Given the description of an element on the screen output the (x, y) to click on. 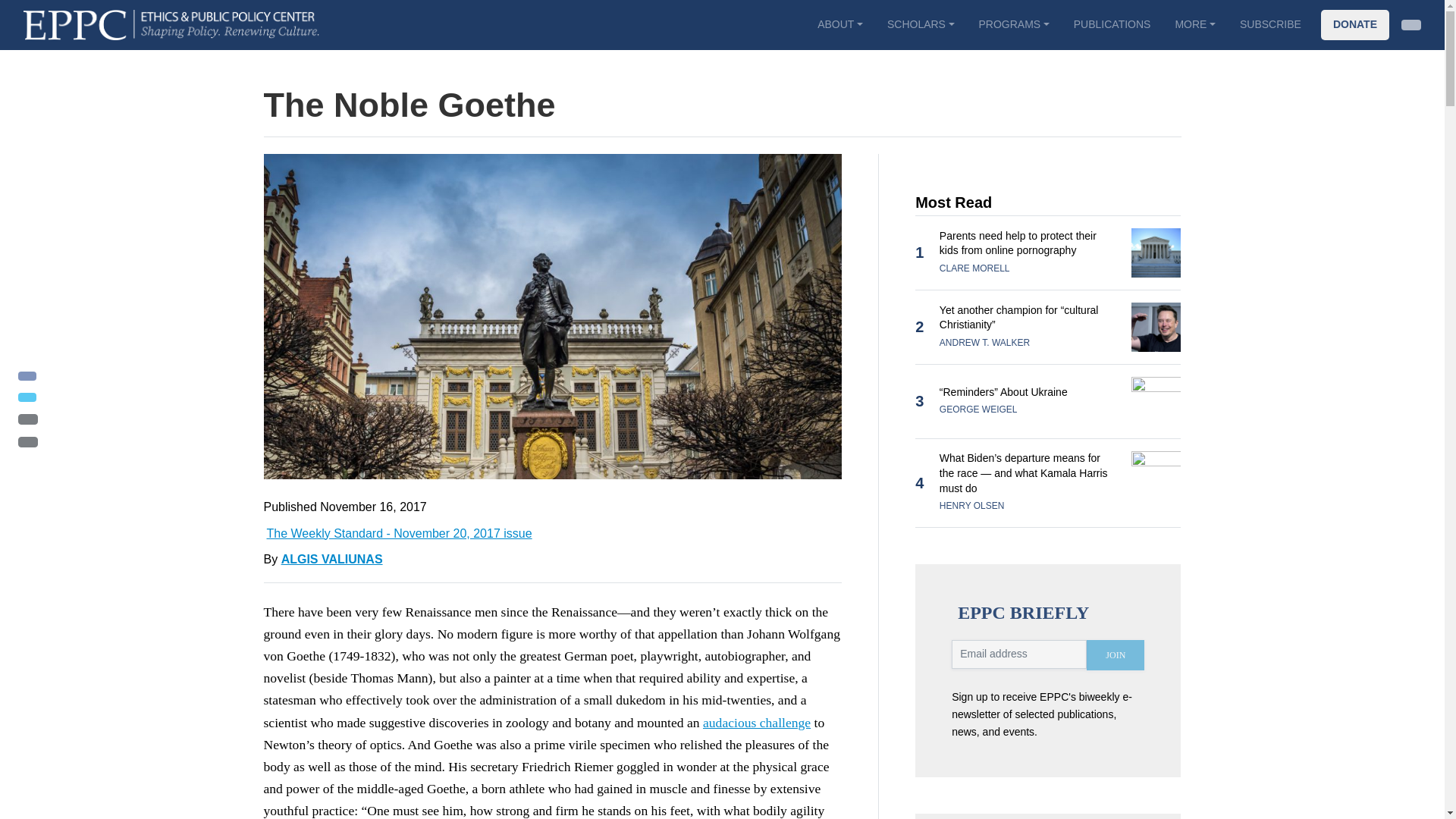
SCHOLARS (920, 24)
JOIN (1115, 654)
ABOUT (840, 24)
